Given the description of an element on the screen output the (x, y) to click on. 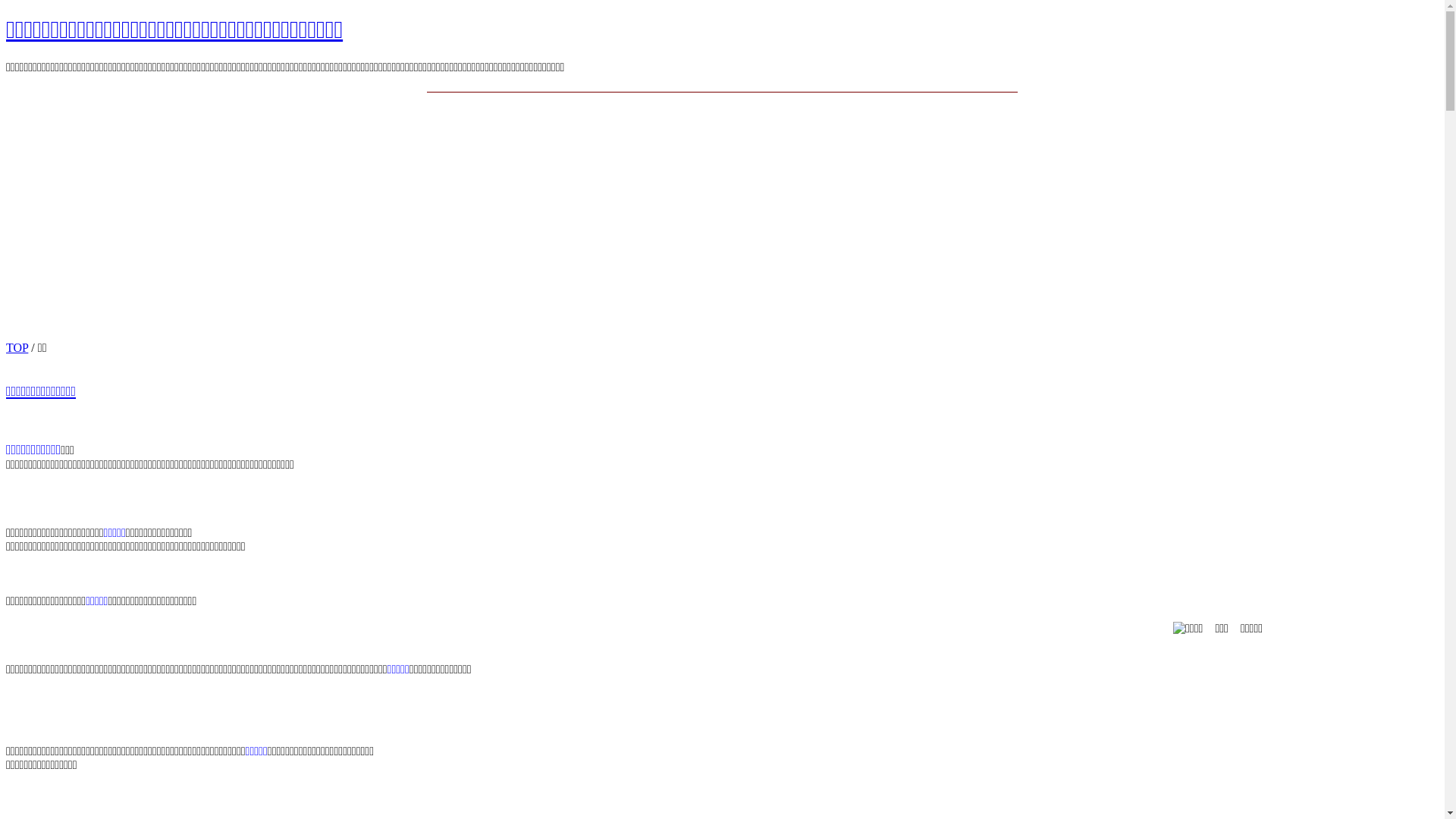
TOP Element type: text (17, 347)
